Given the description of an element on the screen output the (x, y) to click on. 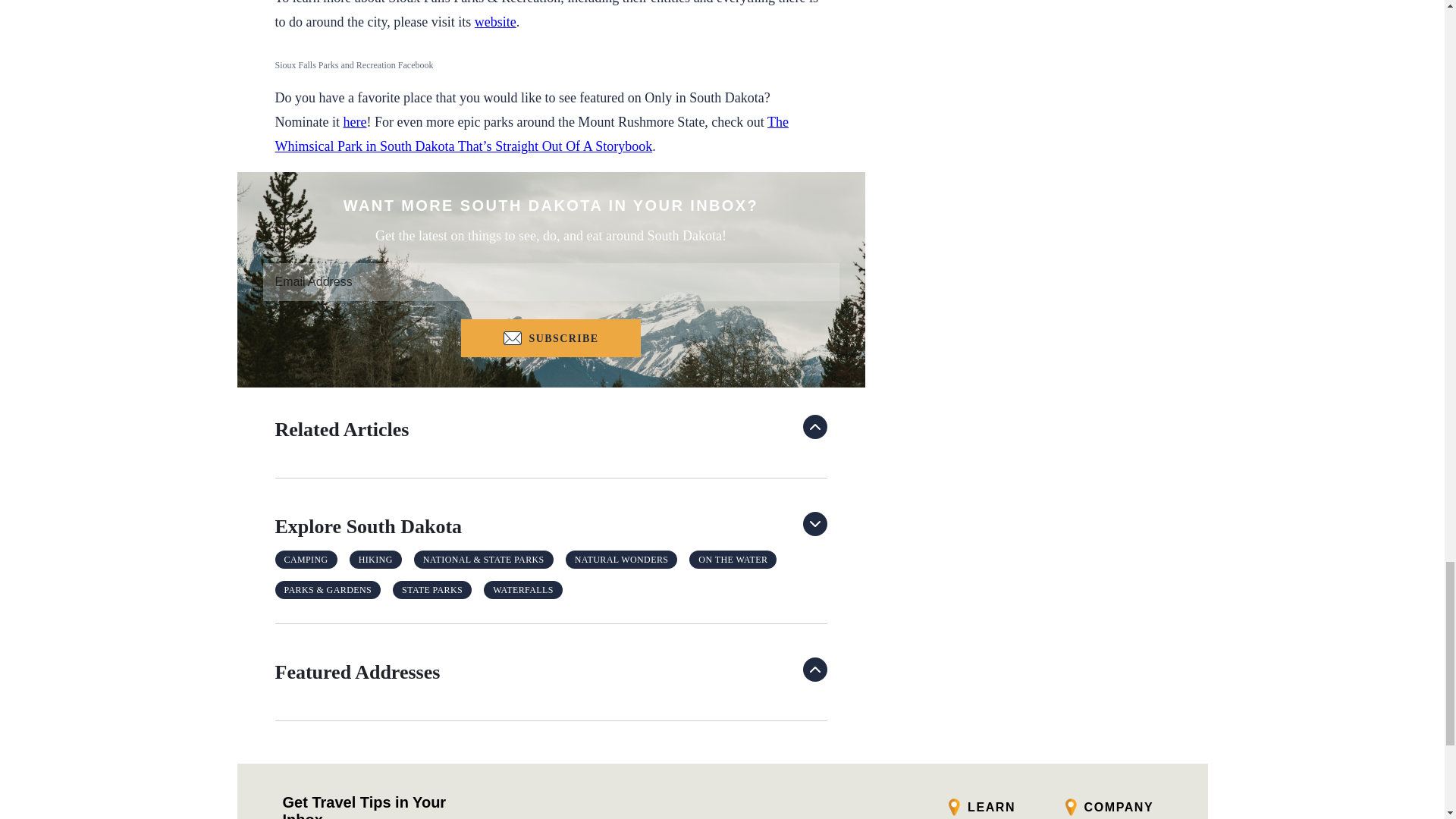
Natural Wonders (621, 559)
Waterfalls (523, 589)
Hiking (375, 559)
On the Water (732, 559)
State Parks (432, 589)
Camping (305, 559)
